Given the description of an element on the screen output the (x, y) to click on. 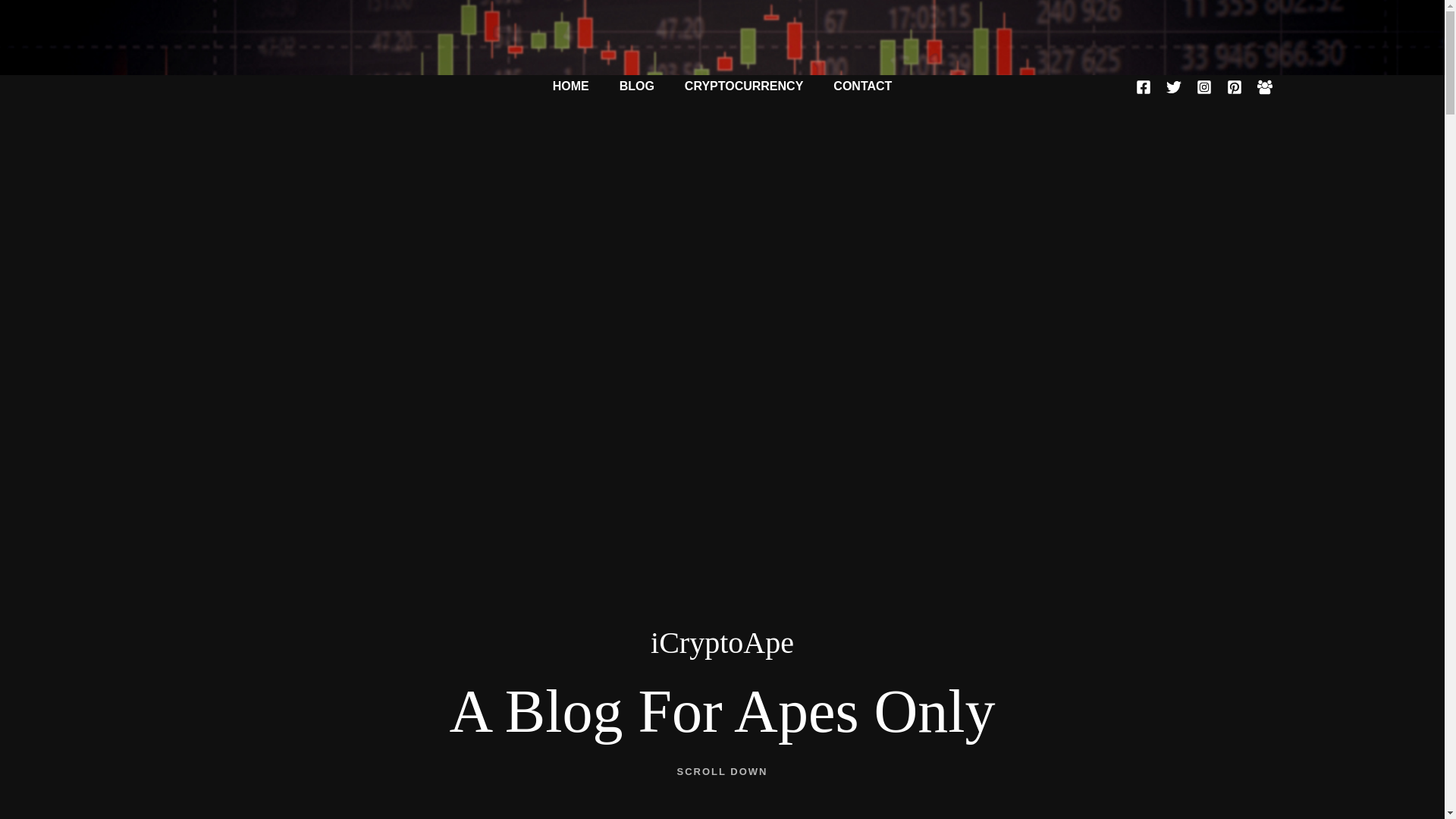
CONTACT (862, 86)
BLOG (636, 86)
CRYPTOCURRENCY (743, 86)
HOME (570, 86)
SCROLL DOWN (722, 771)
